Given the description of an element on the screen output the (x, y) to click on. 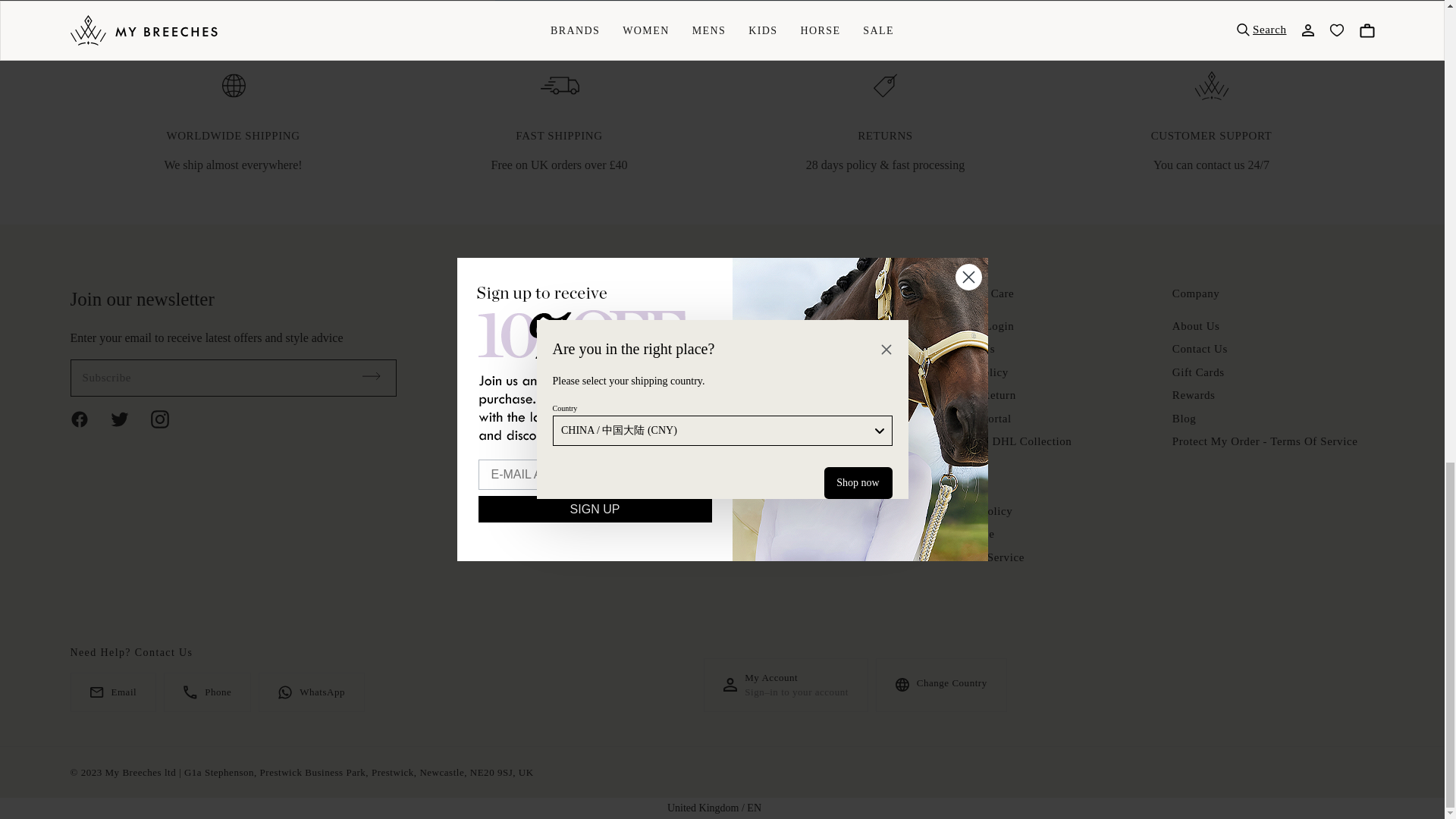
My Breeches on Twitter (129, 418)
My Breeches on Instagram (168, 418)
My Breeches on Facebook (87, 418)
